Given the description of an element on the screen output the (x, y) to click on. 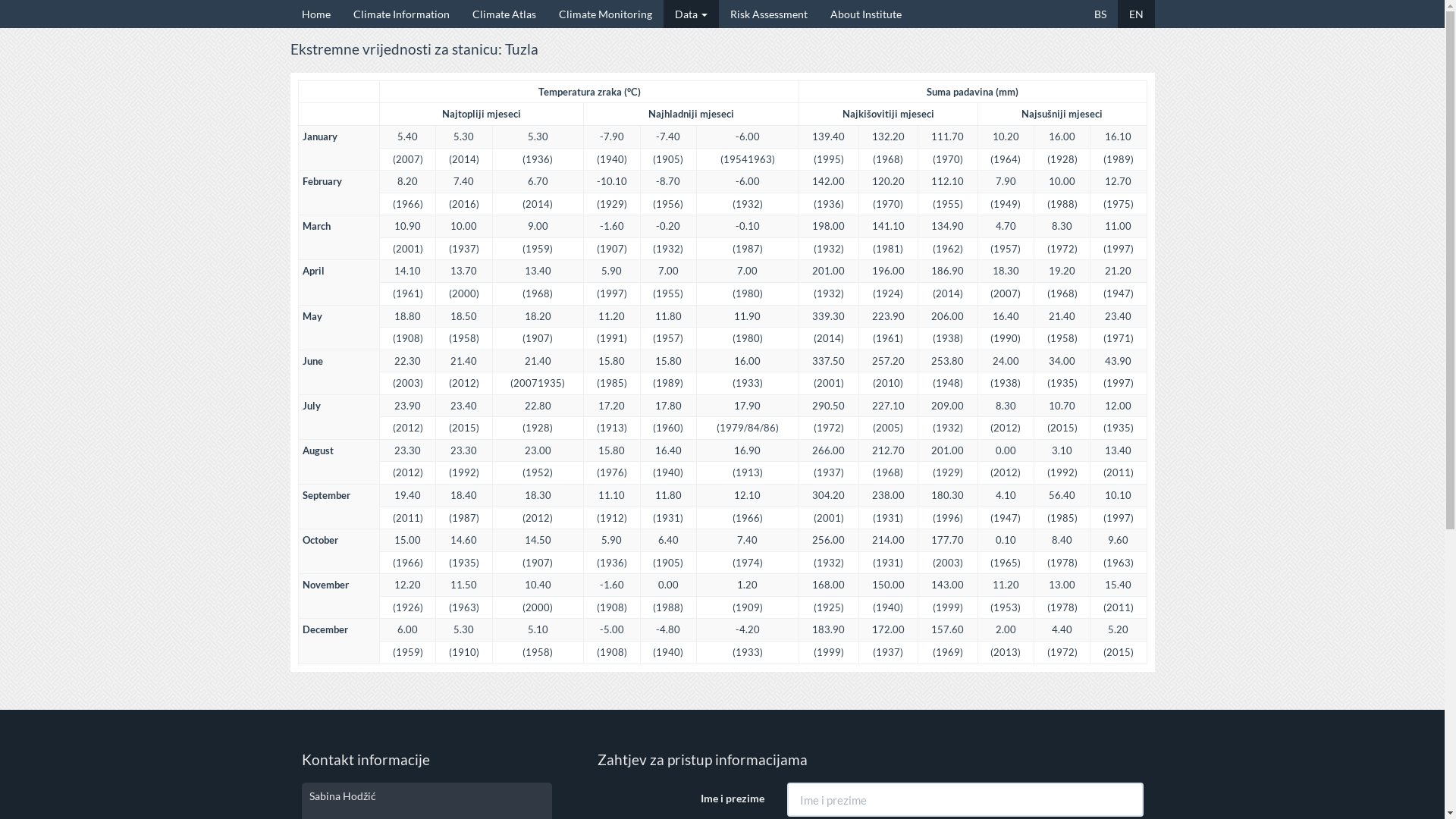
Data Element type: text (690, 14)
Climate Information Element type: text (400, 14)
Risk Assessment Element type: text (768, 14)
EN Element type: text (1135, 14)
BS Element type: text (1099, 14)
Climate Atlas Element type: text (504, 14)
Home Element type: text (315, 14)
About Institute Element type: text (866, 14)
Climate Monitoring Element type: text (605, 14)
